Given the description of an element on the screen output the (x, y) to click on. 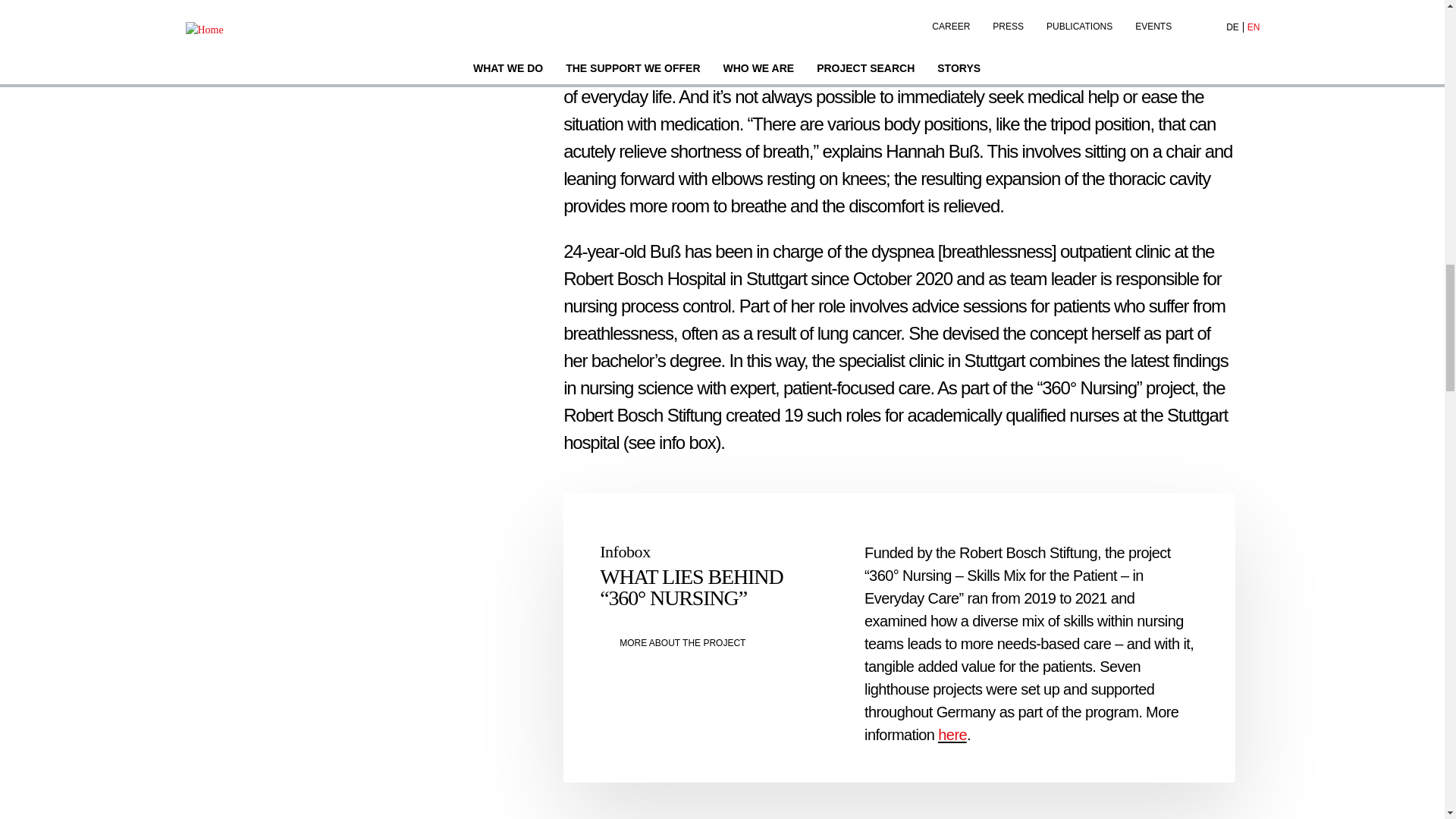
here (951, 734)
MORE ABOUT THE PROJECT (713, 643)
